Given the description of an element on the screen output the (x, y) to click on. 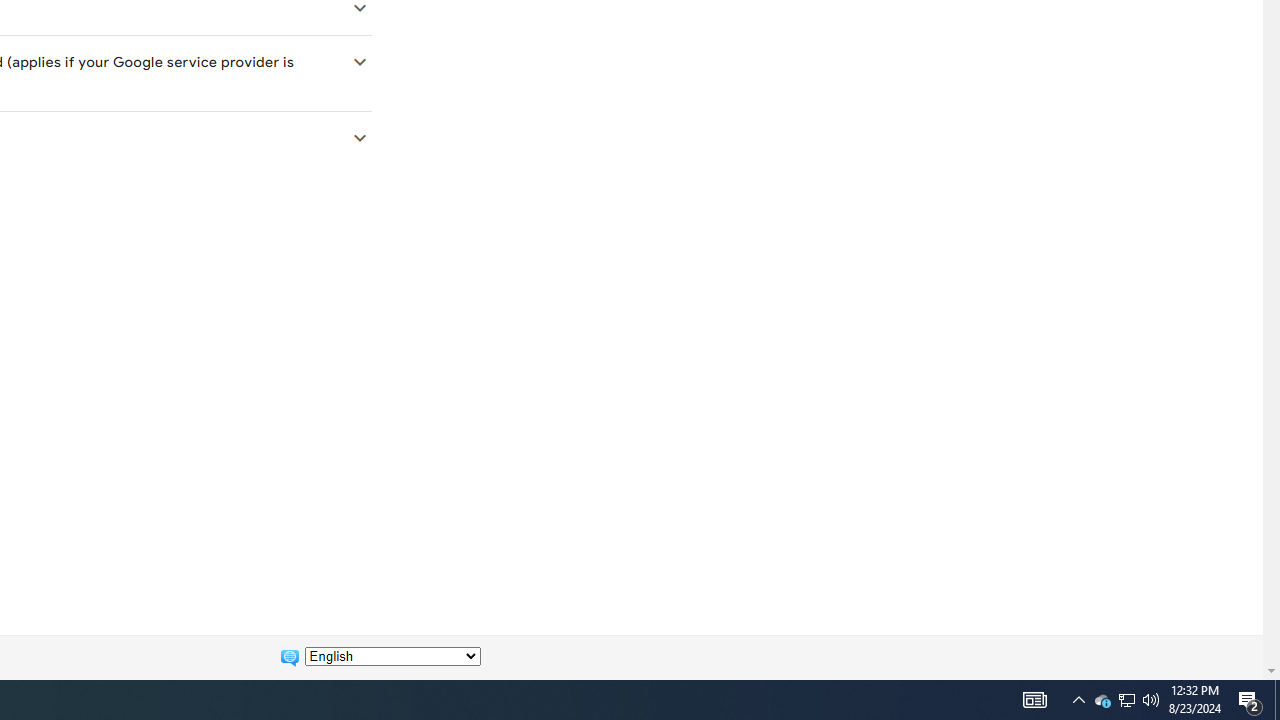
Change language: (392, 656)
